Given the description of an element on the screen output the (x, y) to click on. 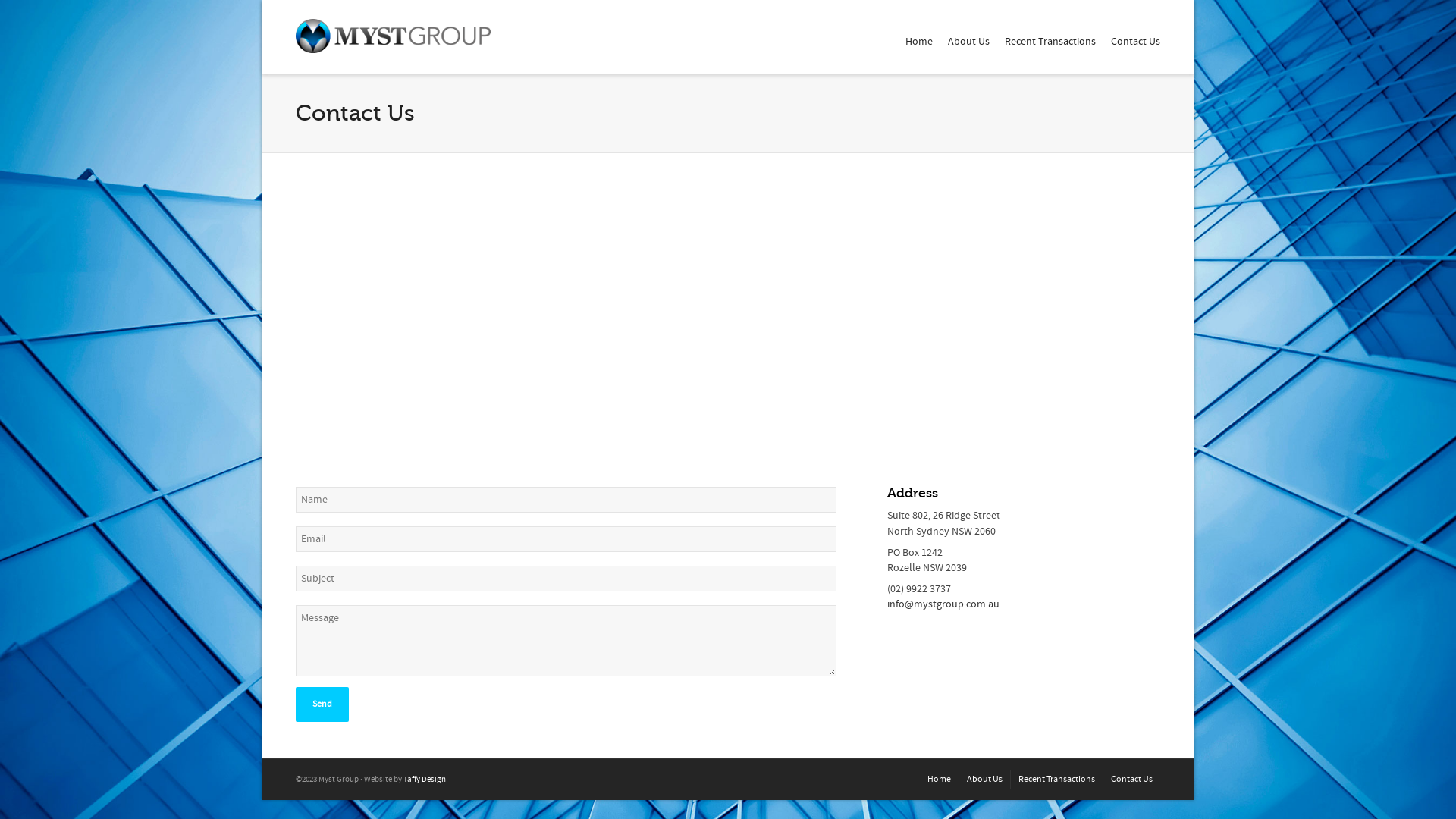
Home Element type: text (918, 42)
Taffy Design Element type: text (424, 779)
Home Element type: text (938, 779)
Contact Us Element type: text (1135, 42)
Send Element type: text (321, 704)
About Us Element type: text (968, 42)
Contact Us Element type: text (1131, 779)
Recent Transactions Element type: text (1056, 779)
info@mystgroup.com.au Element type: text (943, 604)
About Us Element type: text (984, 779)
Recent Transactions Element type: text (1049, 42)
